Given the description of an element on the screen output the (x, y) to click on. 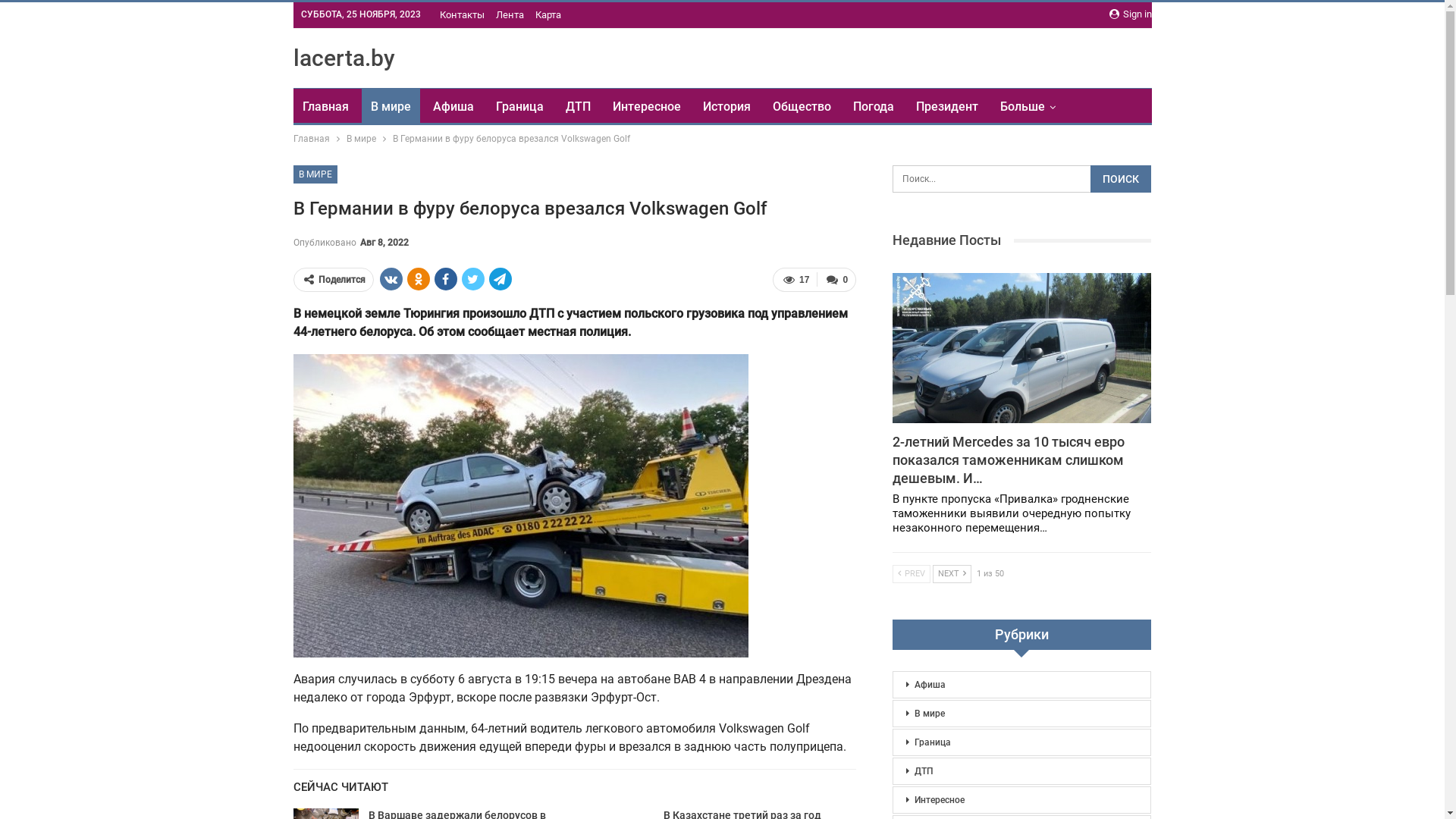
lacerta.by Element type: text (343, 57)
0 Element type: text (836, 279)
NEXT Element type: text (951, 573)
Sign in Element type: text (1129, 14)
PREV Element type: text (911, 573)
